Given the description of an element on the screen output the (x, y) to click on. 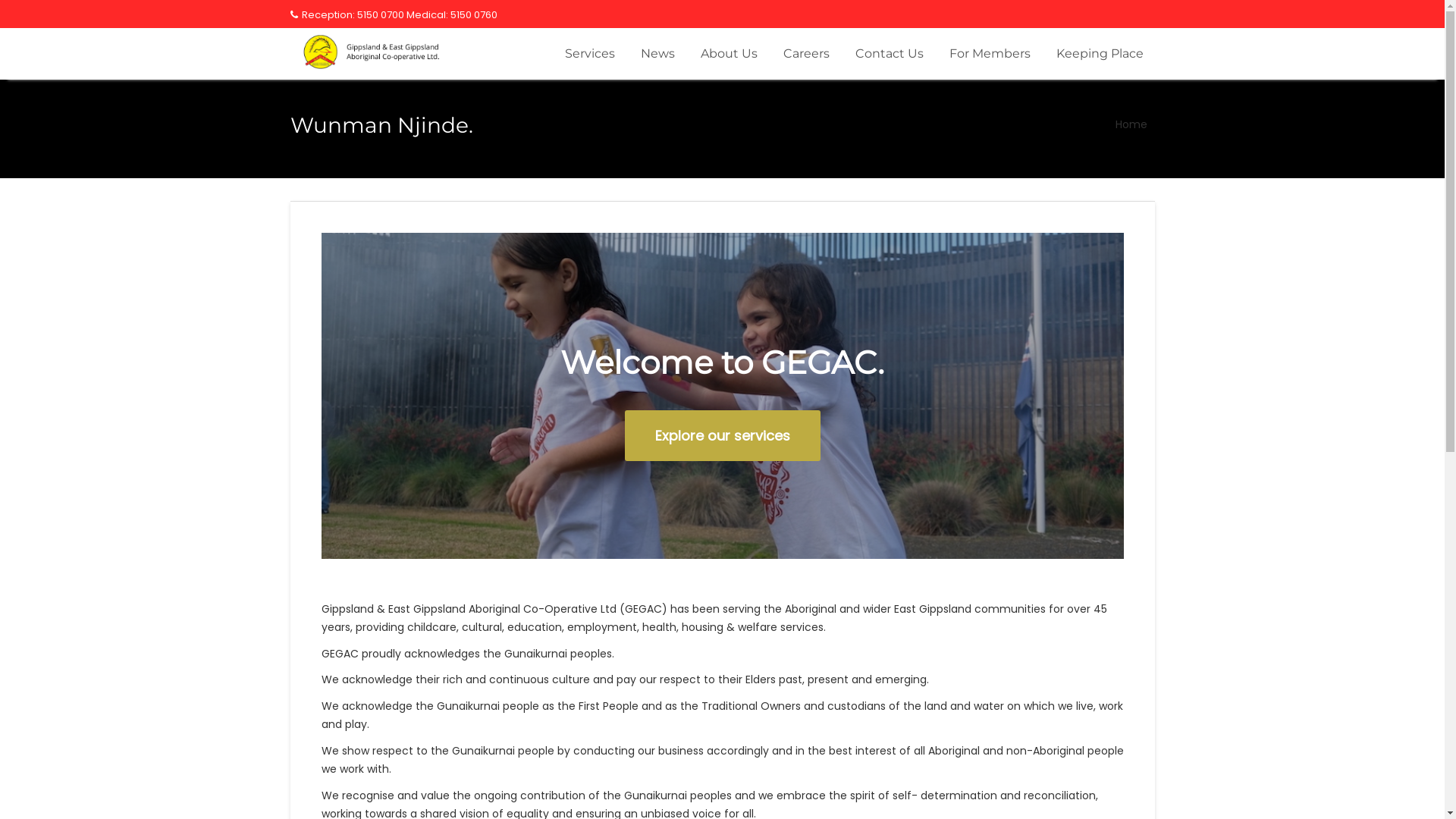
Reception: 5150 0700 Medical: 5150 0760 Element type: text (392, 15)
For Members Element type: text (989, 53)
News Element type: text (657, 53)
Contact Us Element type: text (888, 53)
About Us Element type: text (728, 53)
Keeping Place Element type: text (1099, 53)
Services Element type: text (589, 53)
Explore our services Element type: text (722, 435)
Careers Element type: text (805, 53)
